Given the description of an element on the screen output the (x, y) to click on. 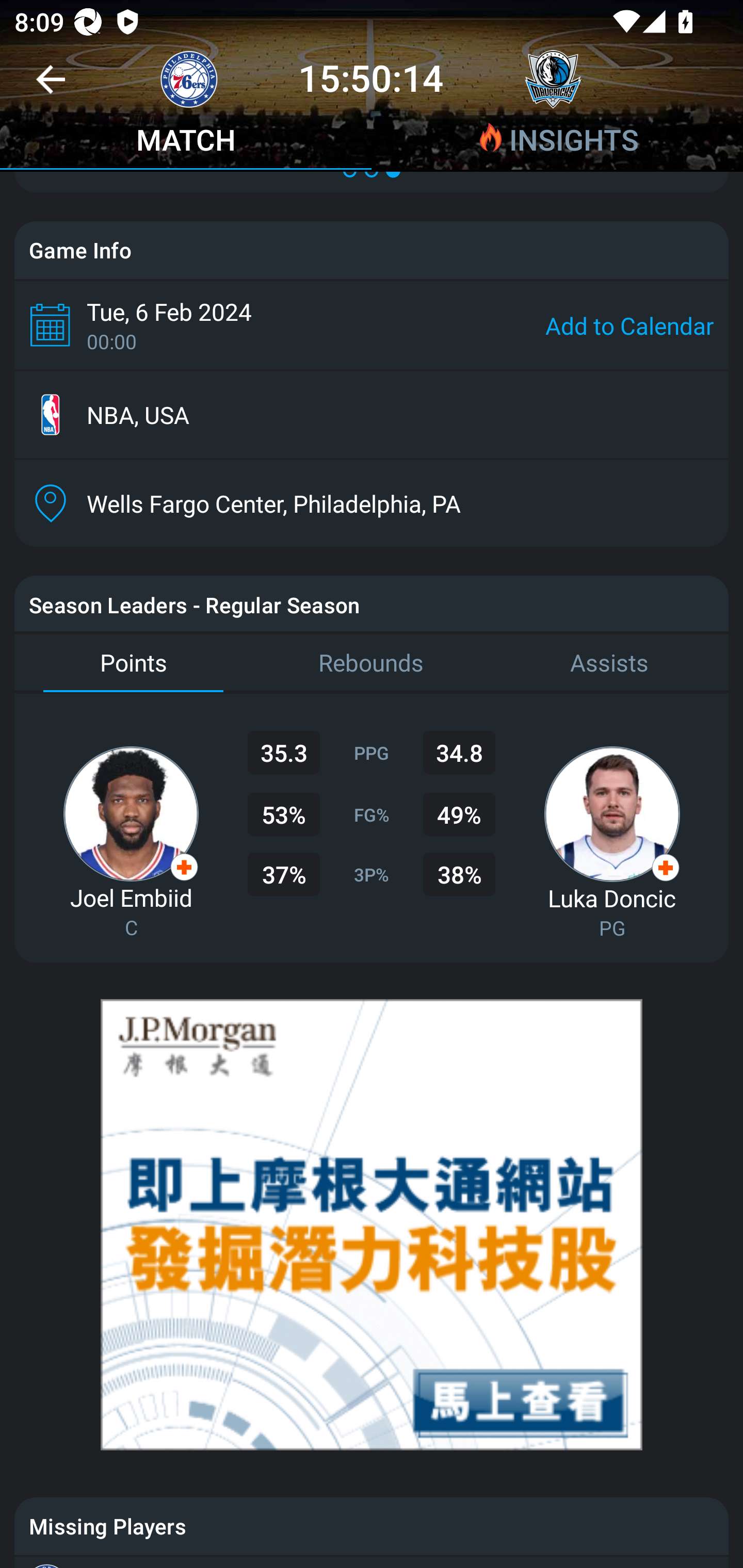
Navigate up (50, 86)
MATCH (185, 142)
INSIGHTS (557, 142)
Game Info (371, 250)
Tue, 6 Feb 2024 00:00 Add to Calendar (371, 325)
NBA, USA (371, 414)
Wells Fargo Center, Philadelphia, PA (371, 503)
Rebounds (371, 663)
Assists (609, 663)
Joel Embiid (131, 897)
Luka Doncic (611, 897)
Advertisement (371, 1224)
Missing Players (371, 1526)
